Given the description of an element on the screen output the (x, y) to click on. 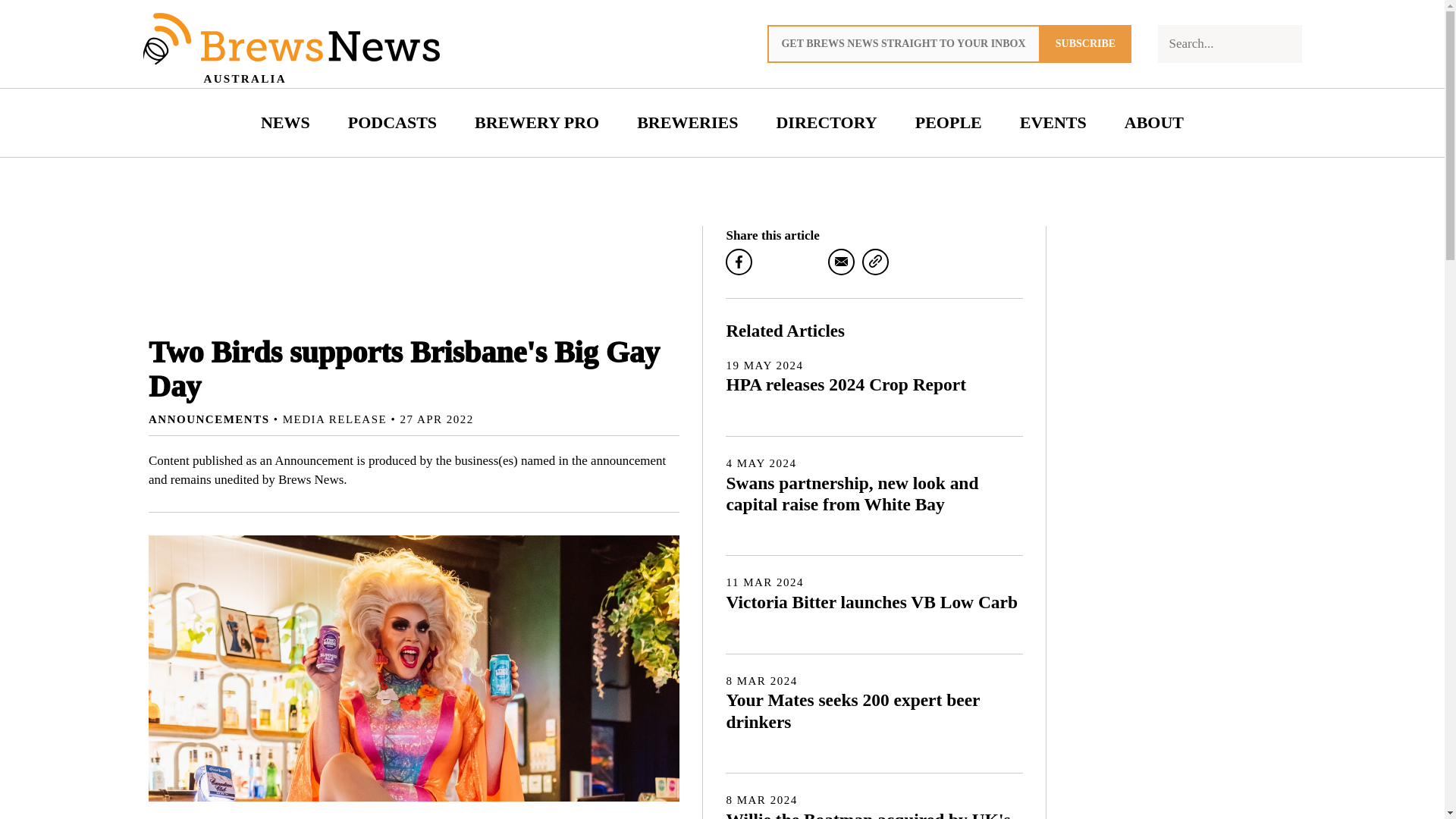
EVENTS (1053, 122)
Facebook (738, 261)
Subscribe (1086, 44)
BREWERY PRO (536, 122)
Email (841, 261)
Subscribe (1086, 44)
PODCASTS (392, 122)
Twitter (807, 261)
ABOUT (1154, 122)
